Given the description of an element on the screen output the (x, y) to click on. 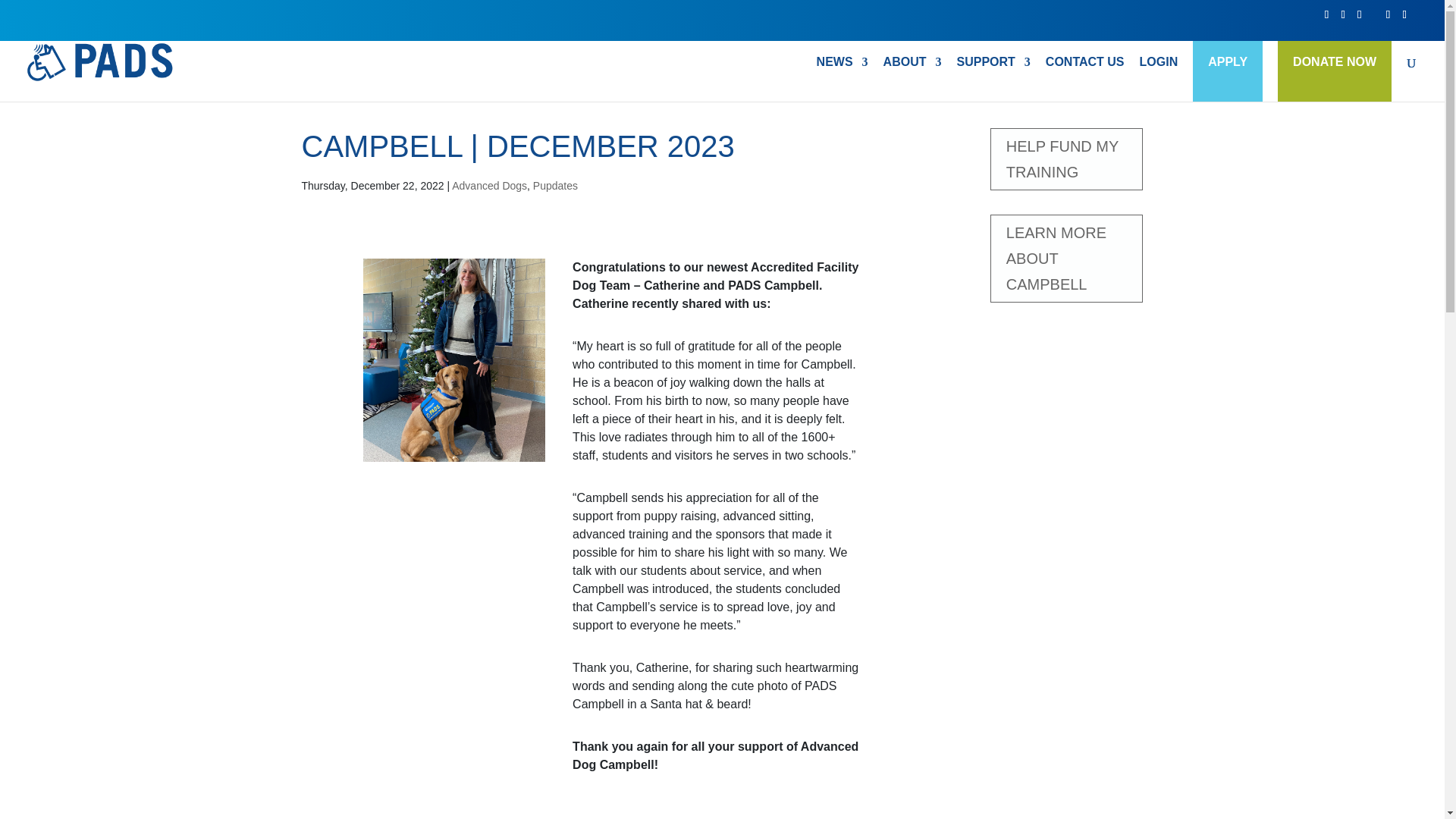
SUPPORT (992, 78)
CONTACT US (1084, 78)
ABOUT (912, 78)
DONATE NOW (1334, 61)
NEWS (841, 78)
